Given the description of an element on the screen output the (x, y) to click on. 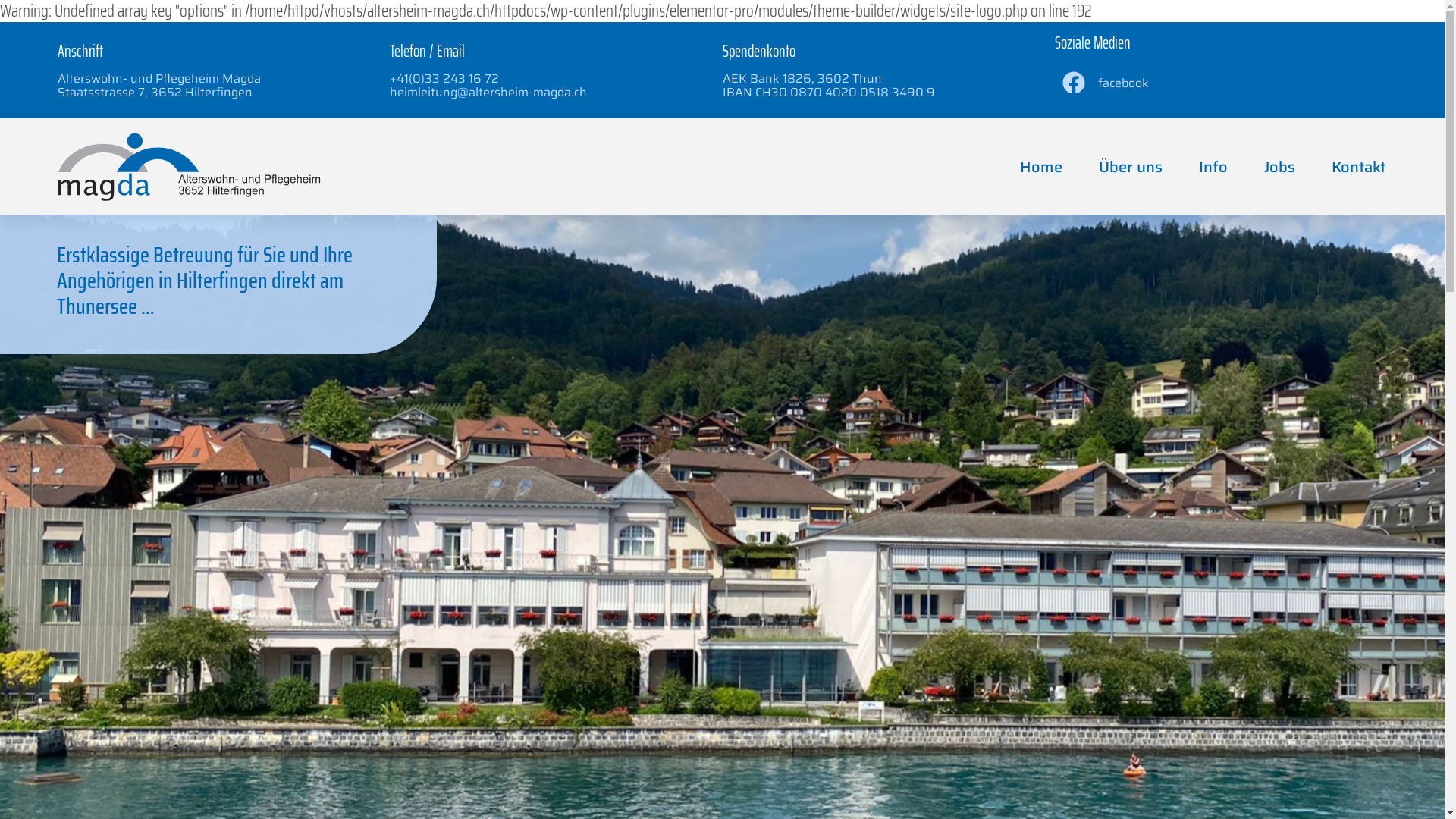
facebook Element type: text (1123, 82)
heimleitung@altersheim-magda.ch Element type: text (487, 91)
Jobs Element type: text (1279, 166)
Home Element type: text (1040, 166)
Kontakt Element type: text (1358, 166)
Info Element type: text (1212, 166)
